Given the description of an element on the screen output the (x, y) to click on. 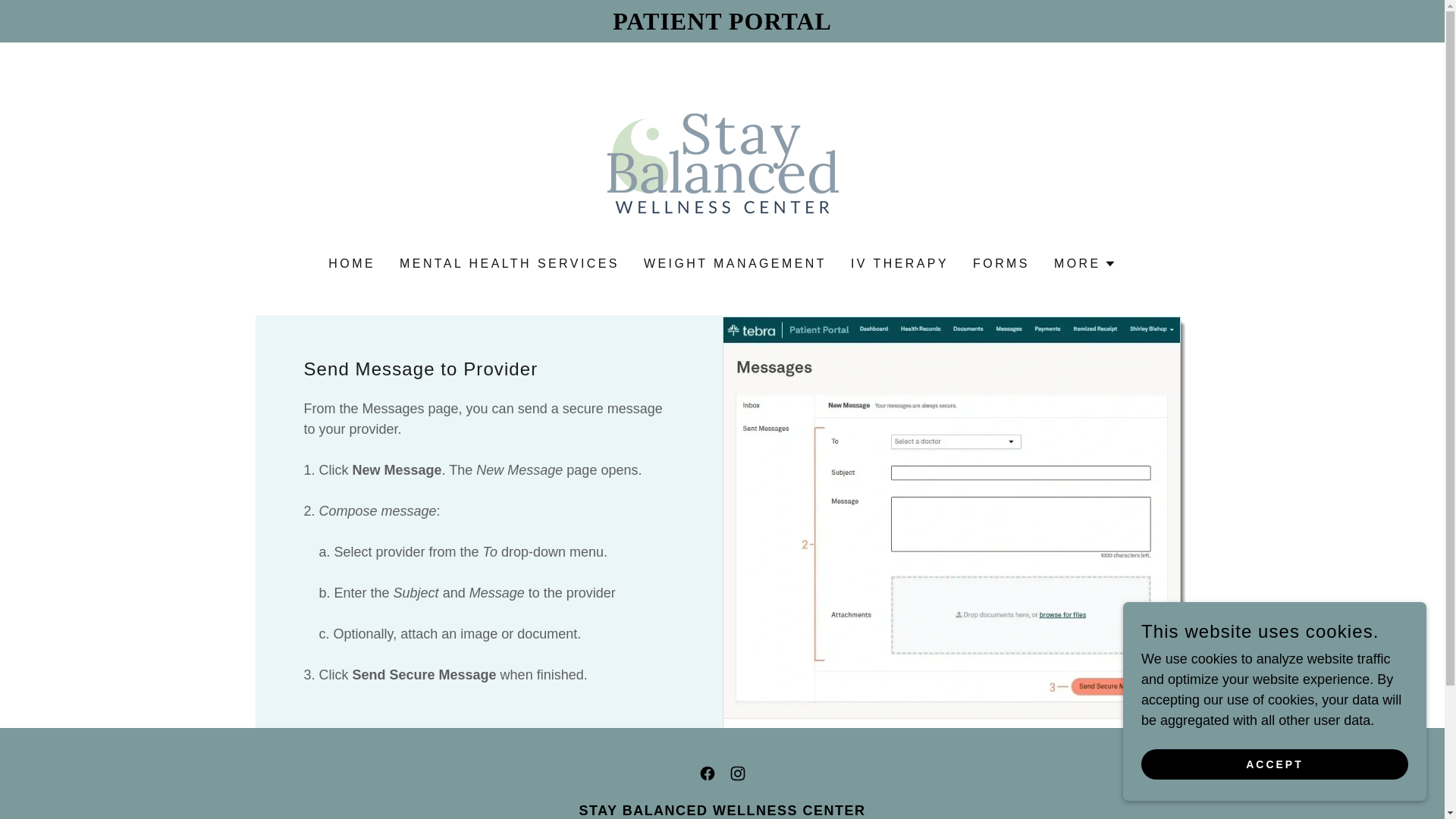
MENTAL HEALTH SERVICES (509, 263)
FORMS (1000, 263)
ACCEPT (1274, 764)
IV THERAPY (899, 263)
HOME (351, 263)
WEIGHT MANAGEMENT (735, 263)
MORE (1085, 263)
